Given the description of an element on the screen output the (x, y) to click on. 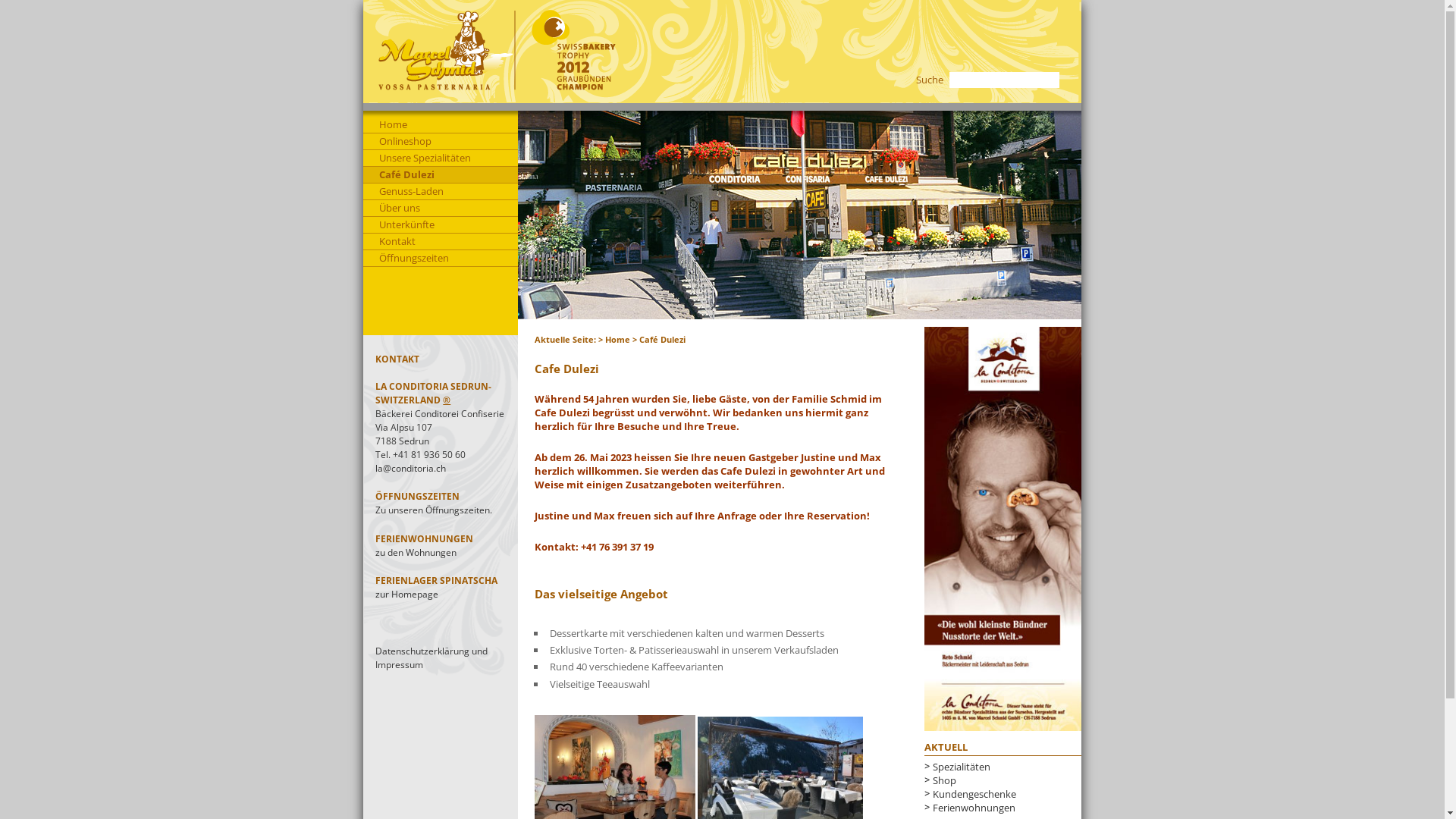
Shop Element type: text (944, 780)
Onlineshop Element type: text (440, 141)
la@conditoria.ch Element type: text (410, 467)
Kundengeschenke Element type: text (974, 793)
zu den Wohnungen Element type: text (415, 552)
Home Element type: text (440, 124)
Home Element type: text (617, 339)
Genuss-Laden Element type: text (440, 191)
Kontakt Element type: text (440, 241)
zur Homepage Element type: text (406, 593)
Ferienwohnungen Element type: text (973, 807)
+41 81 936 50 60 Element type: text (428, 454)
